Given the description of an element on the screen output the (x, y) to click on. 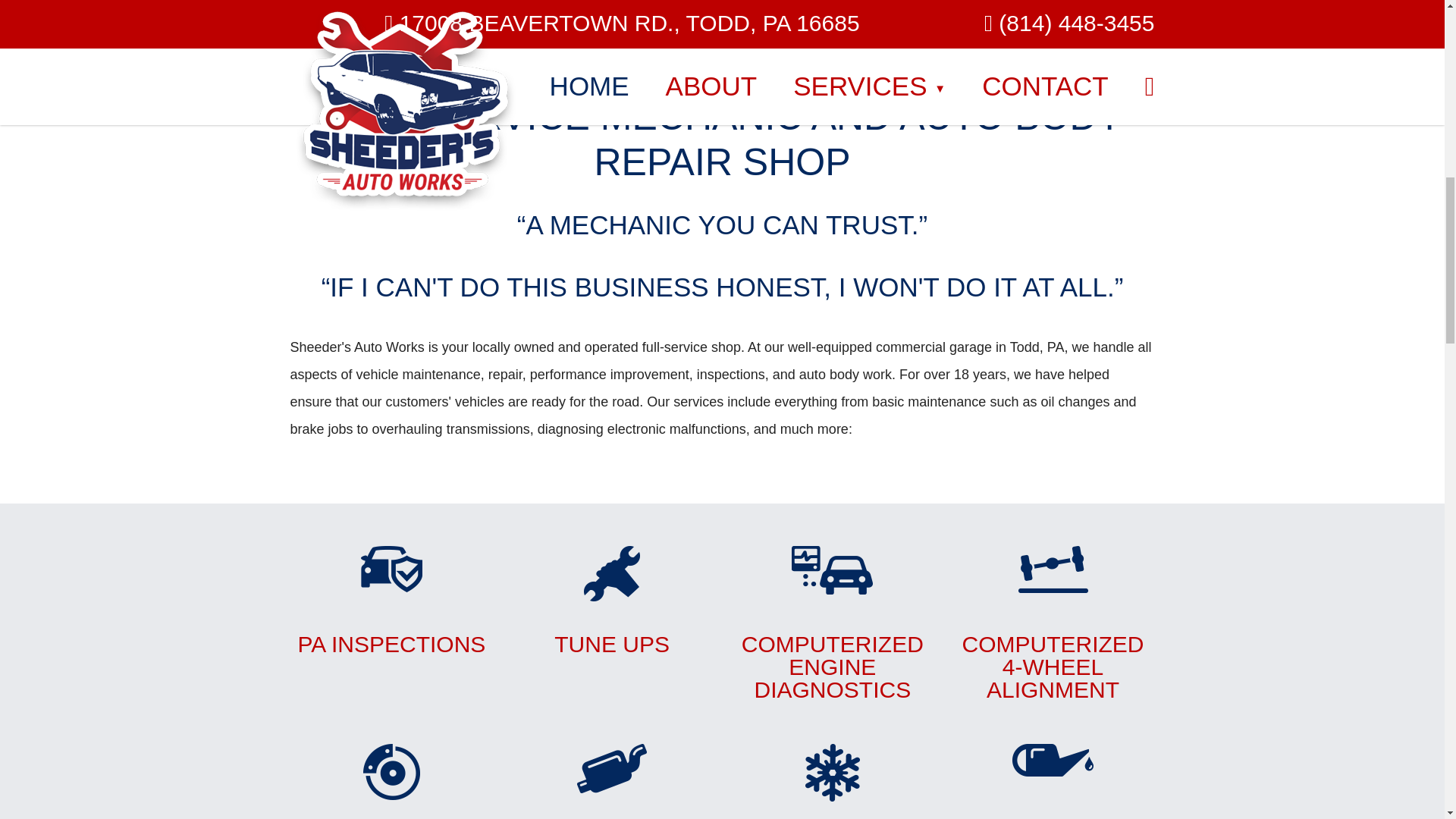
BRAKE SERVICES (391, 781)
TUNE UPS (612, 601)
PA INSPECTIONS (831, 781)
EXHAUST SERVICES (391, 601)
